Given the description of an element on the screen output the (x, y) to click on. 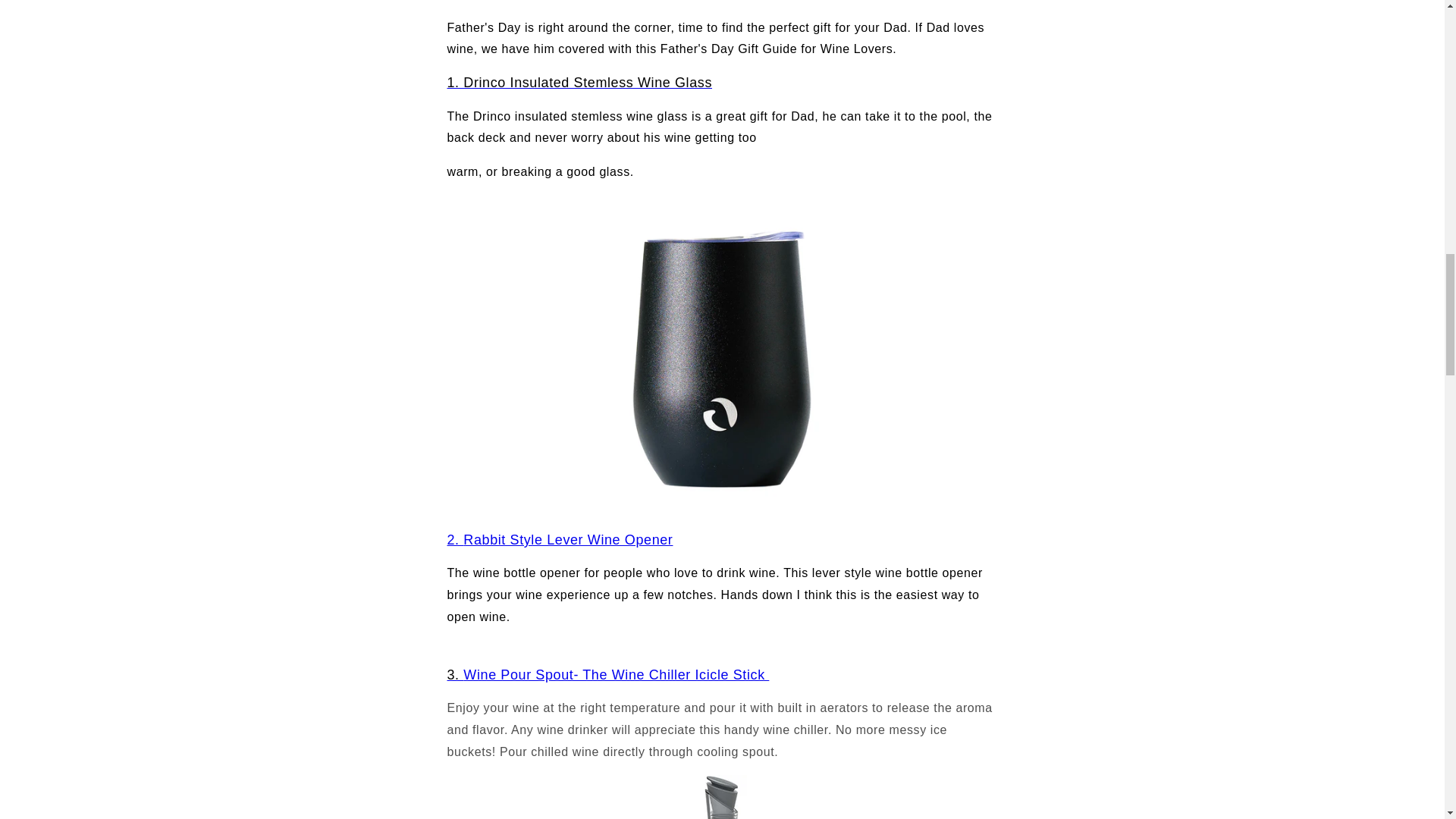
Host Chill wine cooling stick (721, 796)
Rabbit Lever Style Wine Opener (455, 539)
Rabbit Lever Style Wine Opener (567, 539)
Drinco Insulated Wine Glass (579, 82)
